Given the description of an element on the screen output the (x, y) to click on. 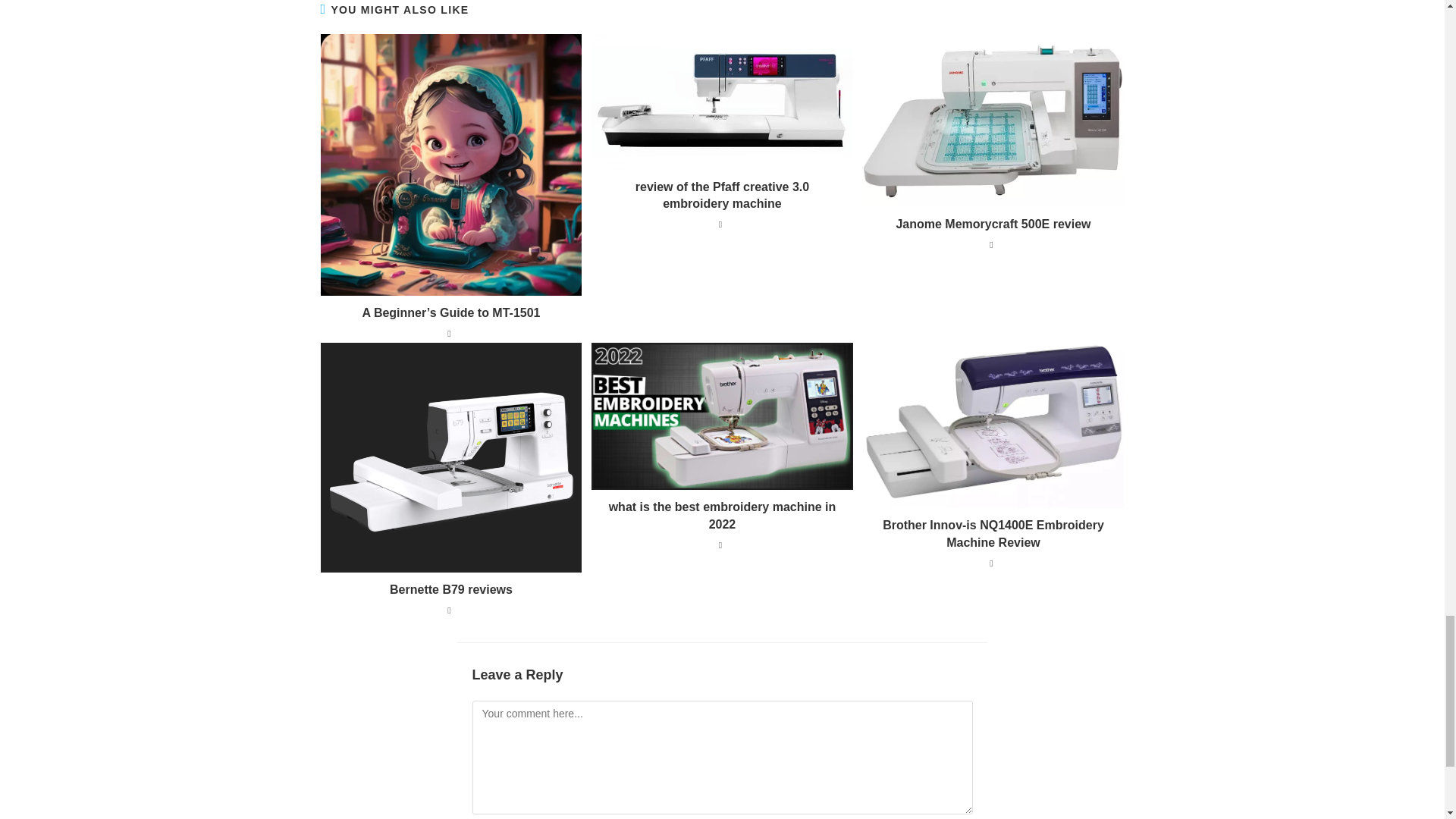
A Beginner's Guide to MT-1501 2 (450, 164)
Janome Memorycraft 500E review 4 (992, 120)
Bernette B79 reviews 5 (450, 457)
what is the best embroidery machine in 2022 6 (722, 416)
review of the Pfaff creative 3.0 embroidery machine 3 (722, 101)
